Given the description of an element on the screen output the (x, y) to click on. 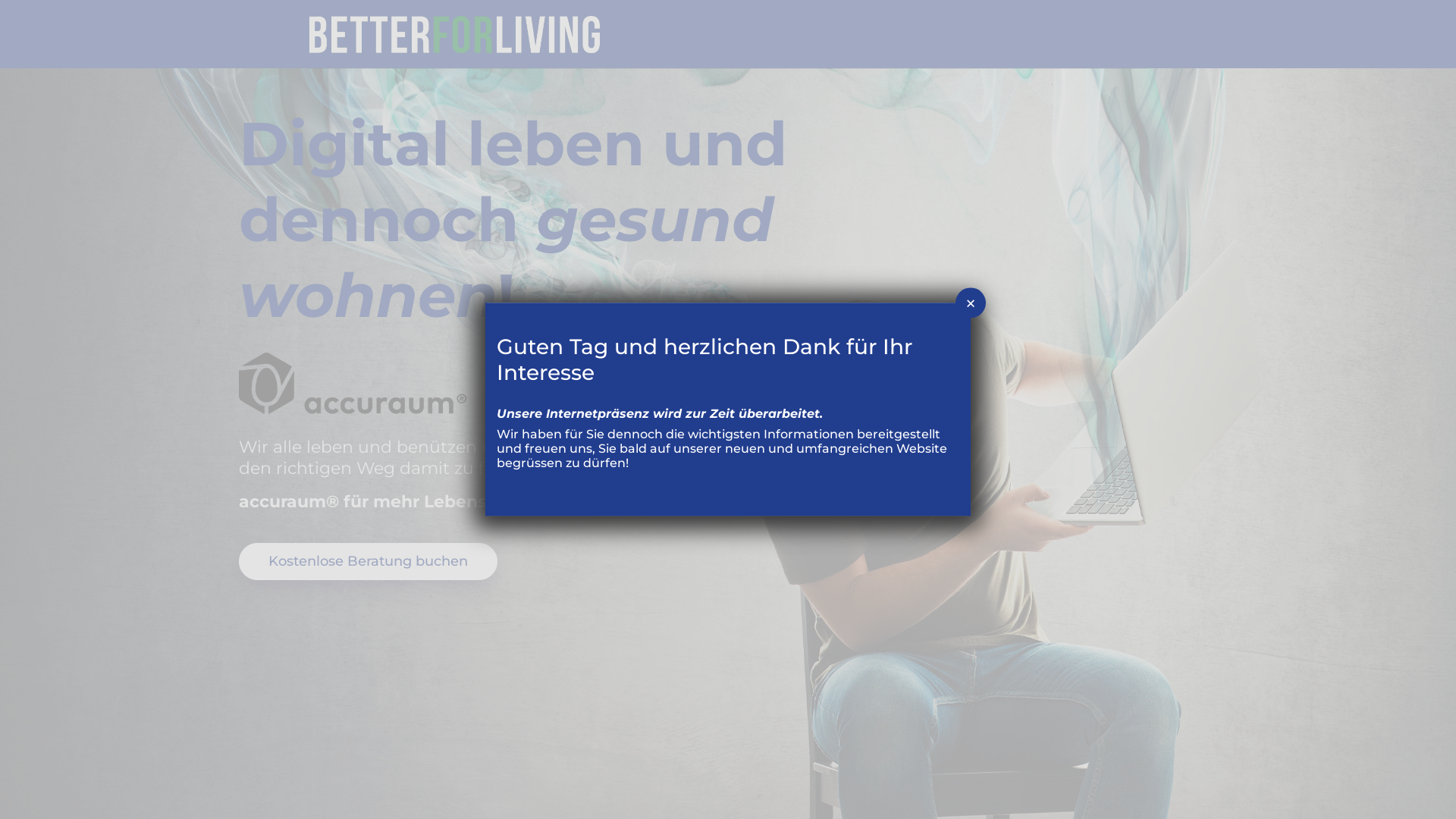
Kostenlose Beratung buchen Element type: text (367, 561)
